Given the description of an element on the screen output the (x, y) to click on. 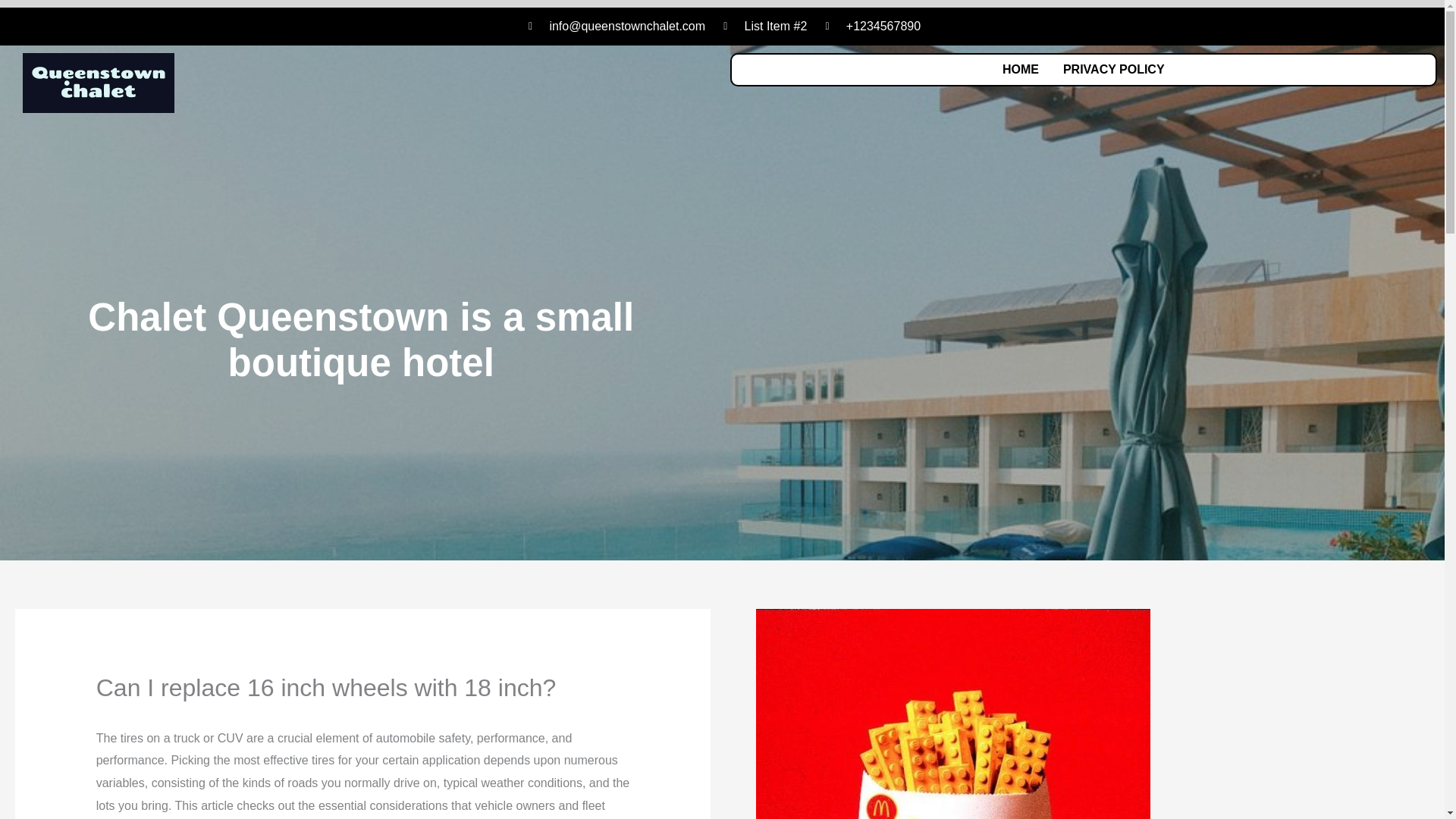
PRIVACY POLICY (1113, 69)
HOME (1020, 69)
